Given the description of an element on the screen output the (x, y) to click on. 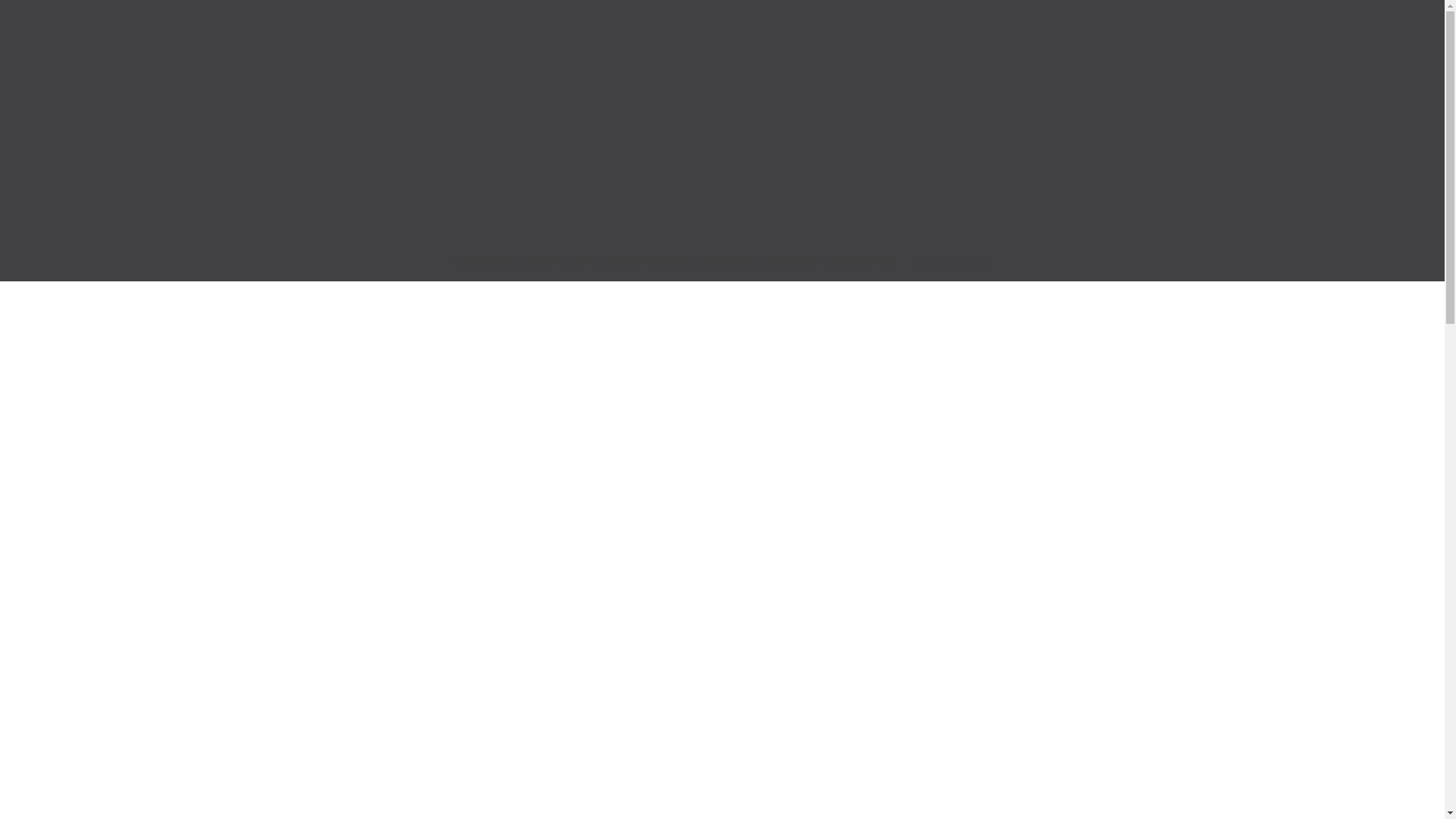
WORKSHOP Element type: text (790, 263)
PROJECTS Element type: text (608, 263)
SERVICES Element type: text (729, 263)
BLOG Element type: text (504, 263)
ABOUT US Element type: text (549, 263)
CONTACT US Element type: text (860, 263)
PORTFOLIO Element type: text (670, 263)
HOME Element type: text (469, 263)
